Given the description of an element on the screen output the (x, y) to click on. 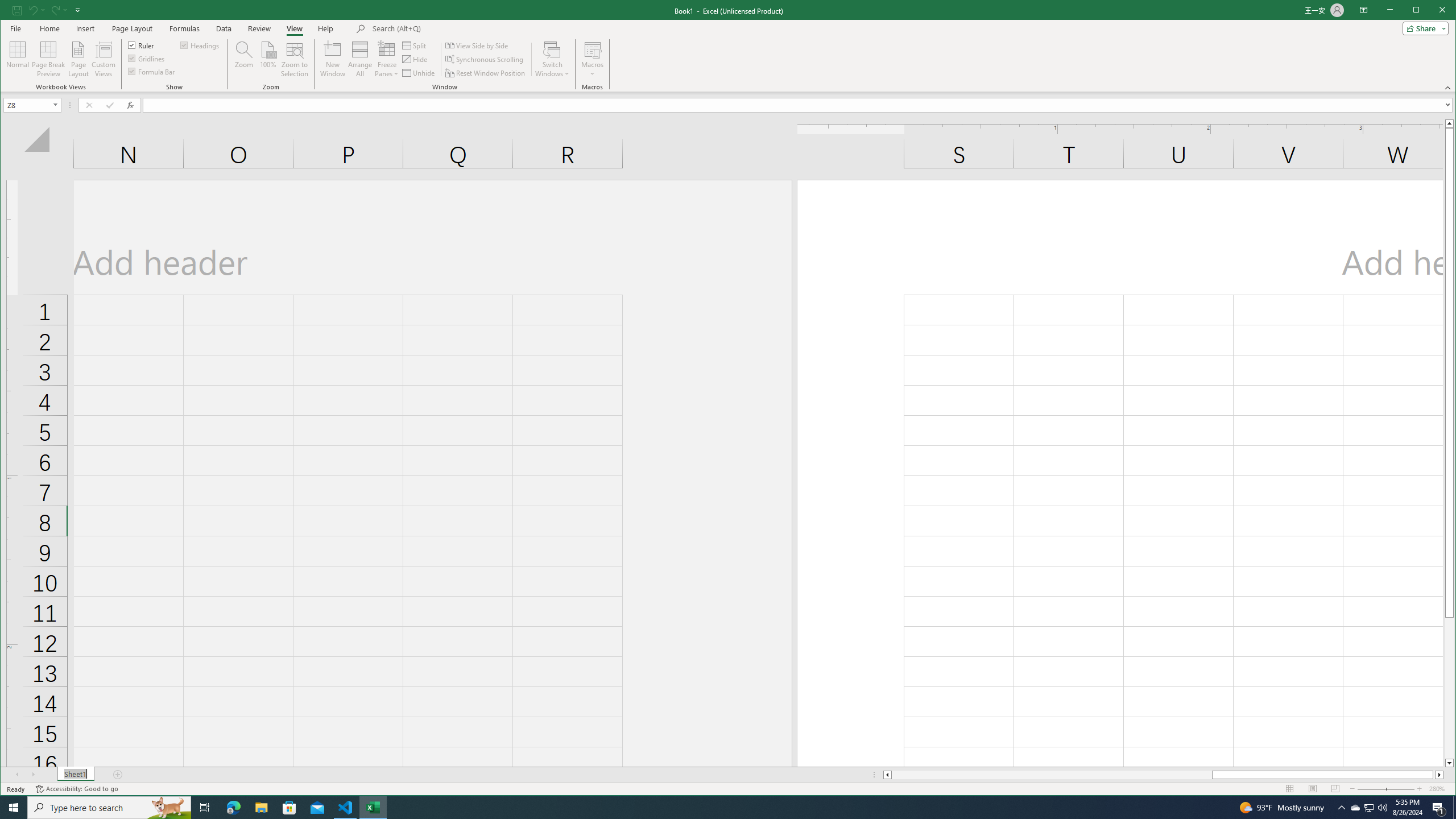
Page left (1051, 774)
Sheet Tab (75, 774)
View Macros (592, 48)
100% (267, 59)
Unhide... (419, 72)
